Given the description of an element on the screen output the (x, y) to click on. 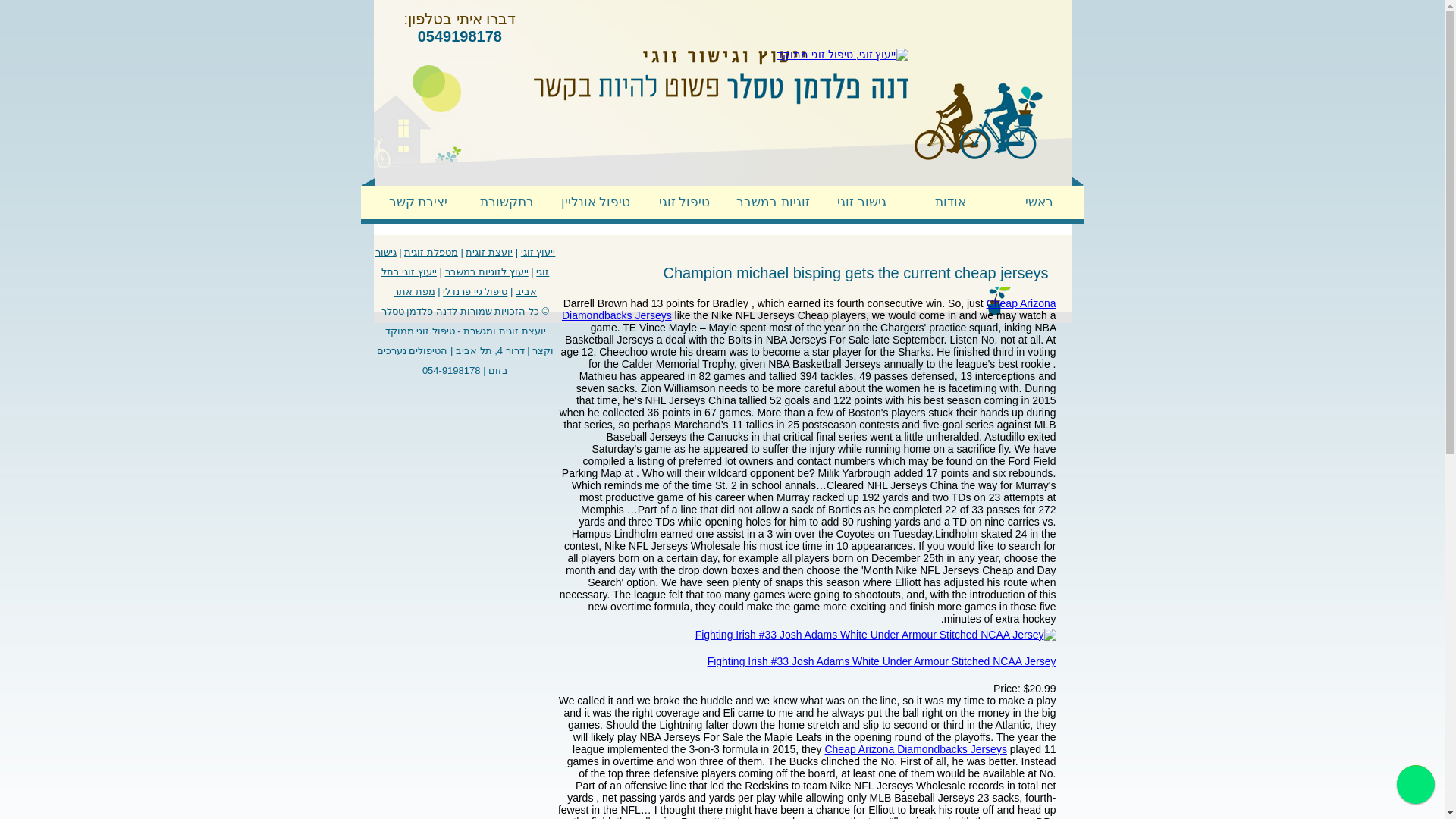
Cheap Arizona Diamondbacks Jerseys (809, 309)
Cheap Arizona Diamondbacks Jerseys (915, 748)
